Given the description of an element on the screen output the (x, y) to click on. 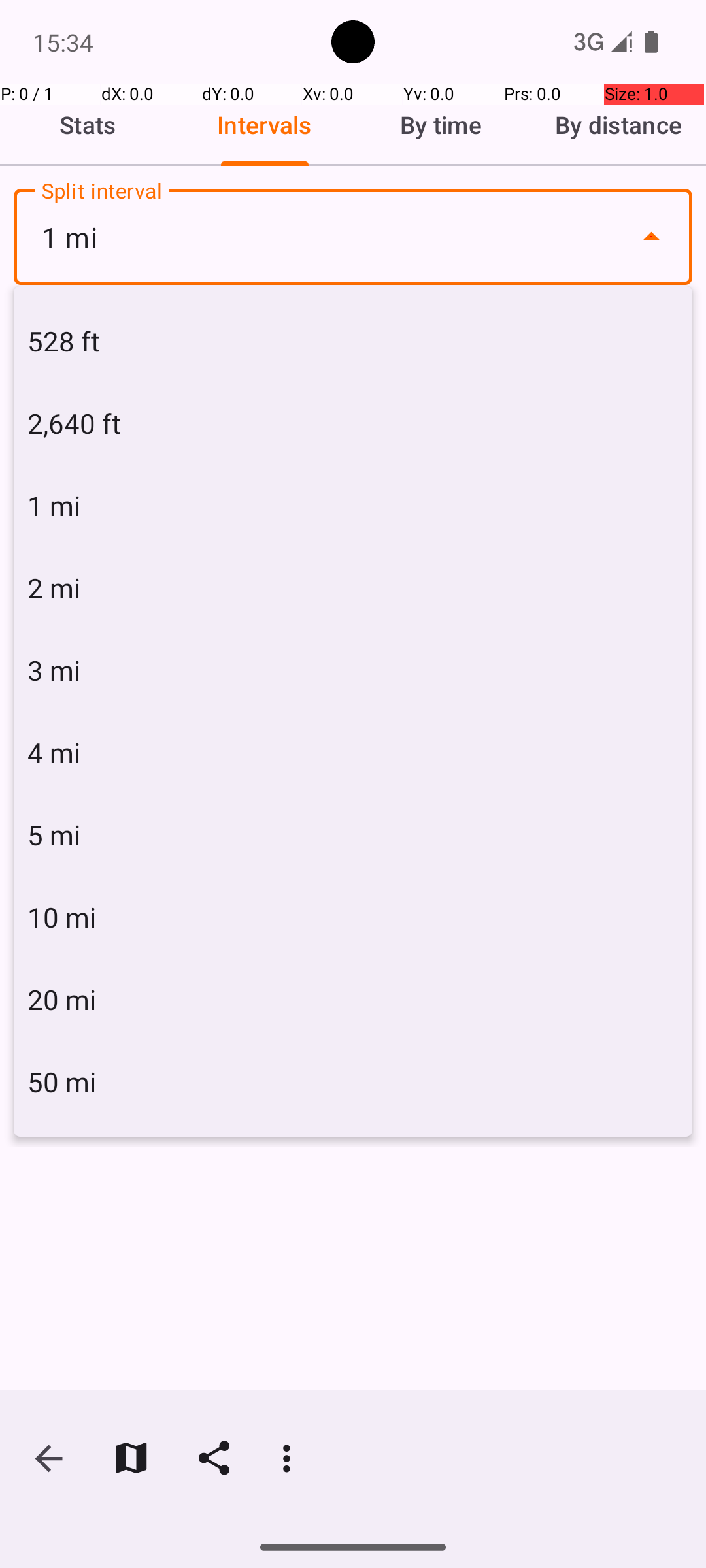
528 ft Element type: android.widget.CheckedTextView (352, 340)
2,640 ft Element type: android.widget.CheckedTextView (352, 423)
2 mi Element type: android.widget.CheckedTextView (352, 587)
3 mi Element type: android.widget.CheckedTextView (352, 670)
4 mi Element type: android.widget.CheckedTextView (352, 752)
5 mi Element type: android.widget.CheckedTextView (352, 834)
10 mi Element type: android.widget.CheckedTextView (352, 917)
20 mi Element type: android.widget.CheckedTextView (352, 999)
50 mi Element type: android.widget.CheckedTextView (352, 1081)
